Given the description of an element on the screen output the (x, y) to click on. 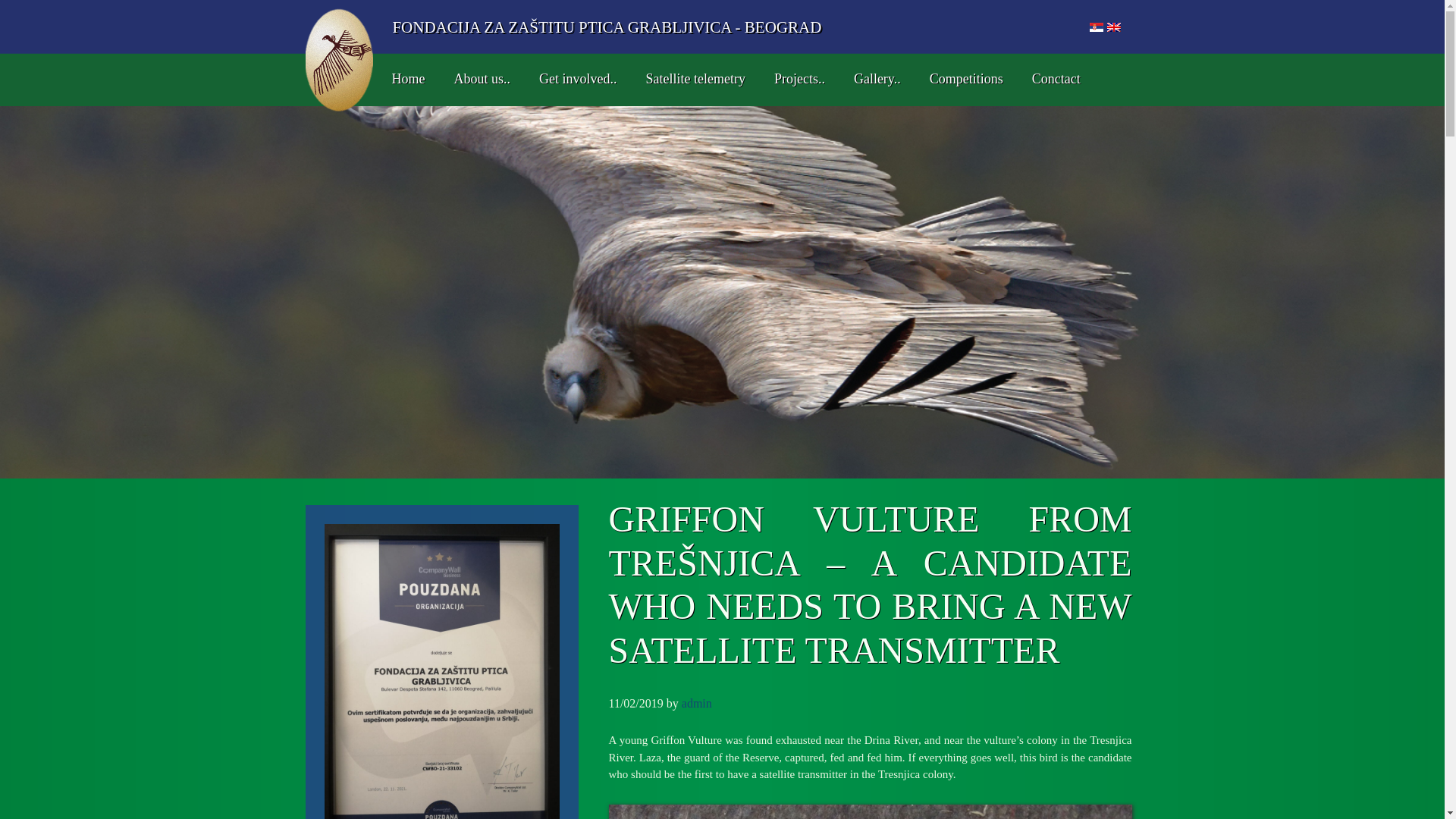
Satellite telemetry (689, 80)
English (1113, 26)
Competitions (960, 80)
admin (696, 703)
Projects.. (793, 80)
About us.. (476, 80)
Home (402, 80)
Gallery.. (871, 80)
Get involved.. (572, 80)
Conctact (1050, 80)
